Given the description of an element on the screen output the (x, y) to click on. 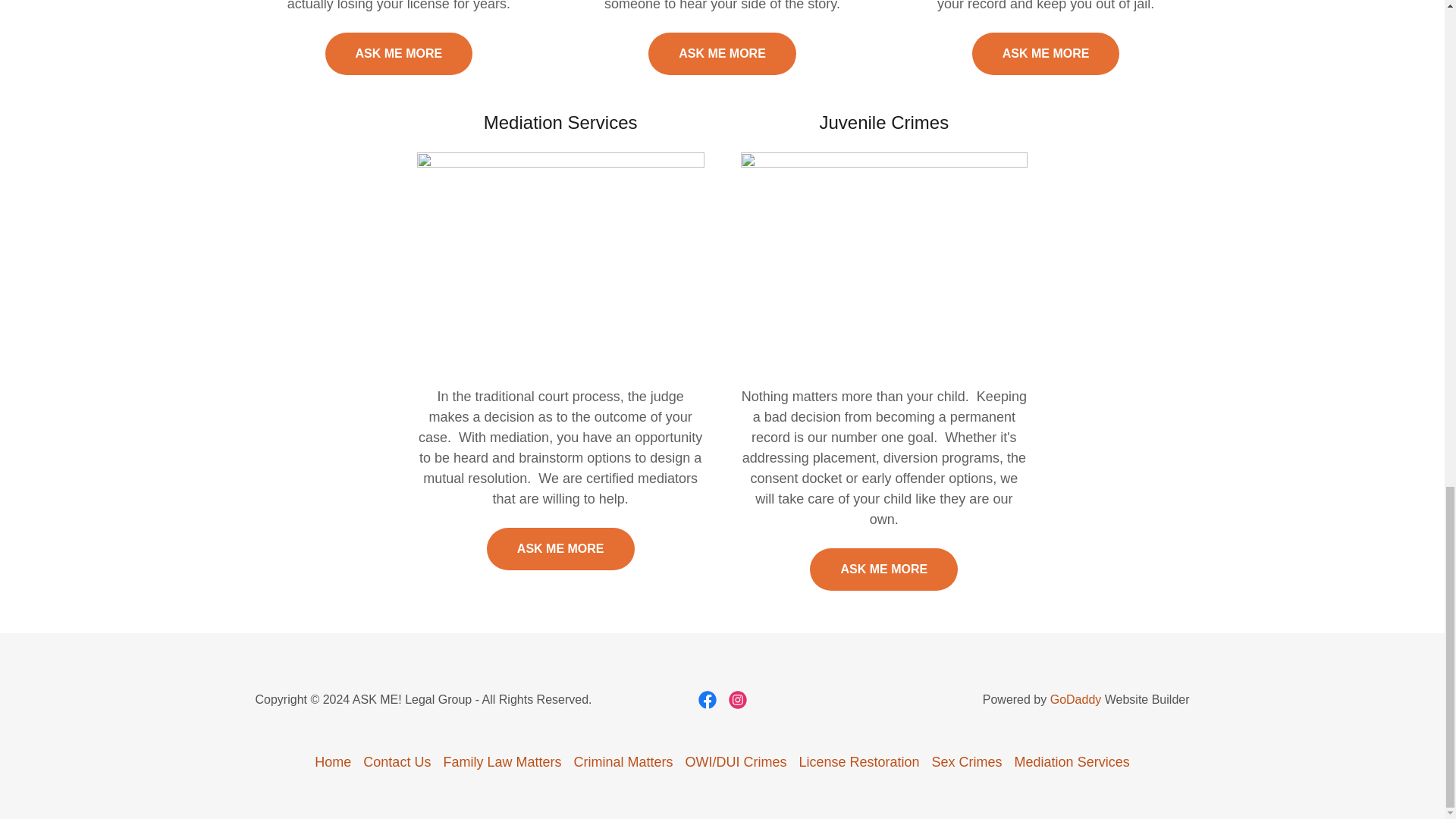
ASK ME MORE (397, 53)
